Given the description of an element on the screen output the (x, y) to click on. 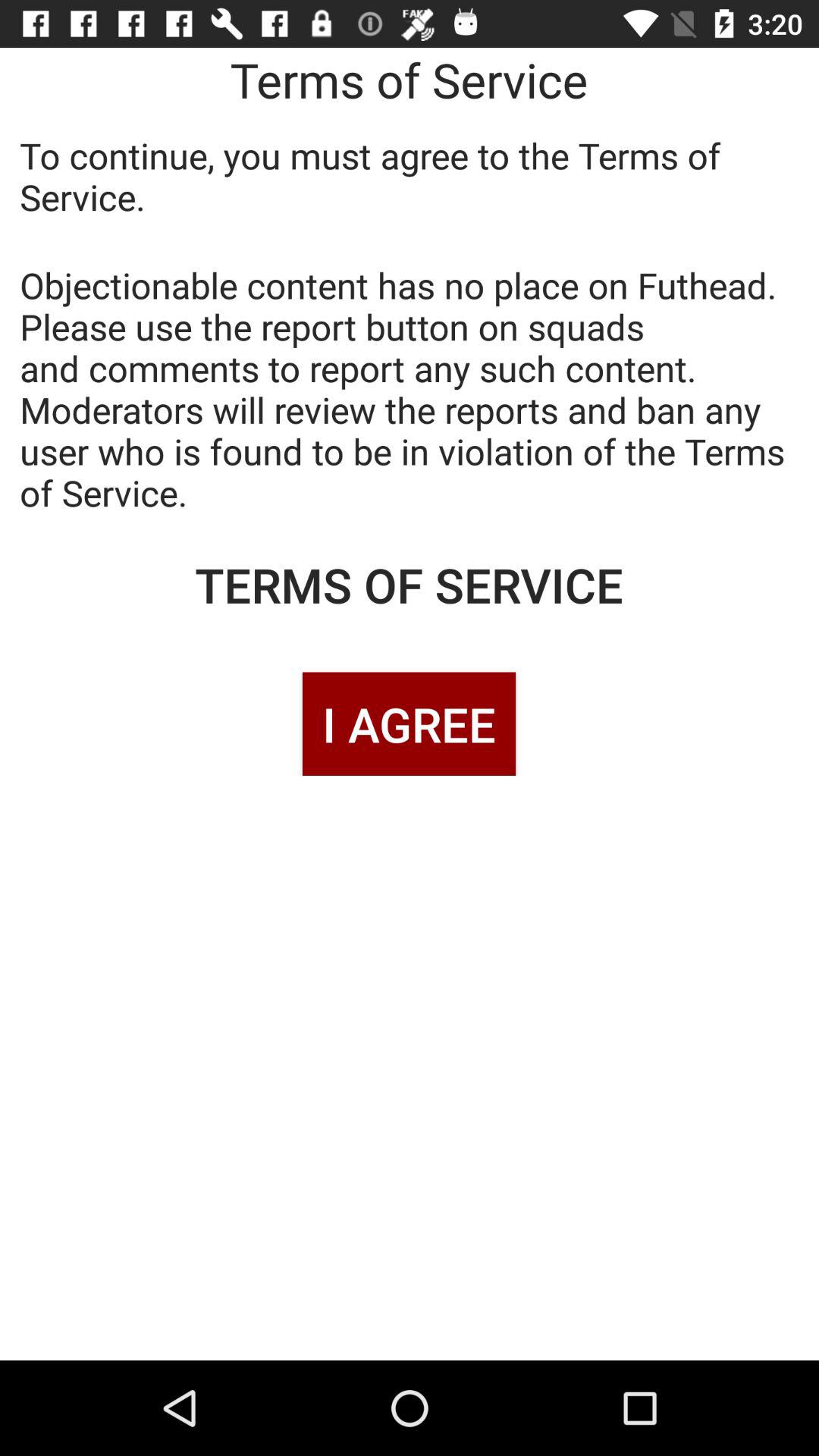
select i agree (408, 723)
